Given the description of an element on the screen output the (x, y) to click on. 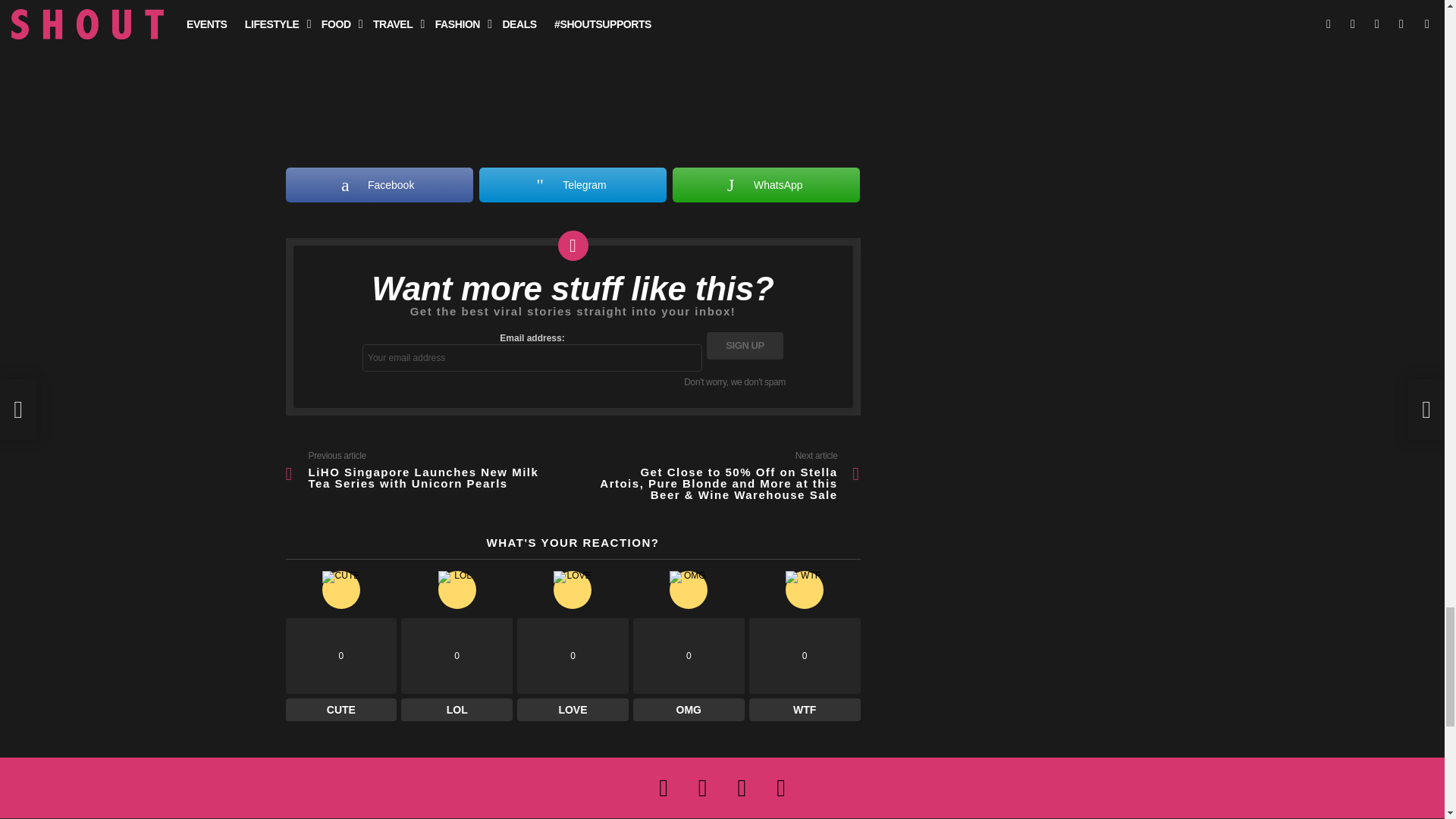
Share on Telegram (572, 184)
Facebook (378, 184)
Share on WhatsApp (766, 184)
Share on Facebook (378, 184)
Sign up (744, 345)
